Given the description of an element on the screen output the (x, y) to click on. 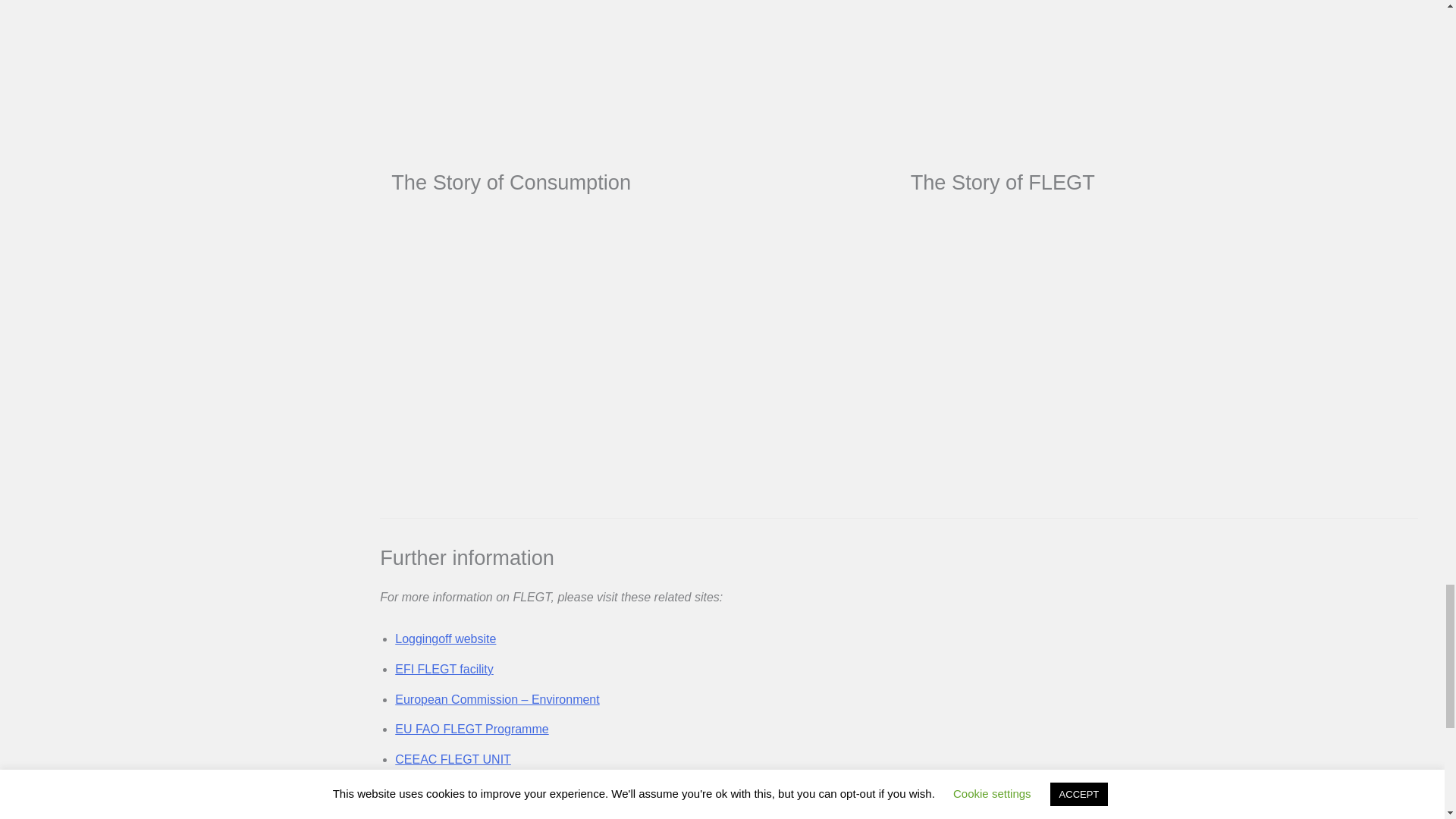
Loggingoff website (445, 638)
EU FAO FLEGT Programme (471, 728)
CEEAC FLEGT UNIT (452, 758)
EFI FLEGT facility (443, 668)
